Given the description of an element on the screen output the (x, y) to click on. 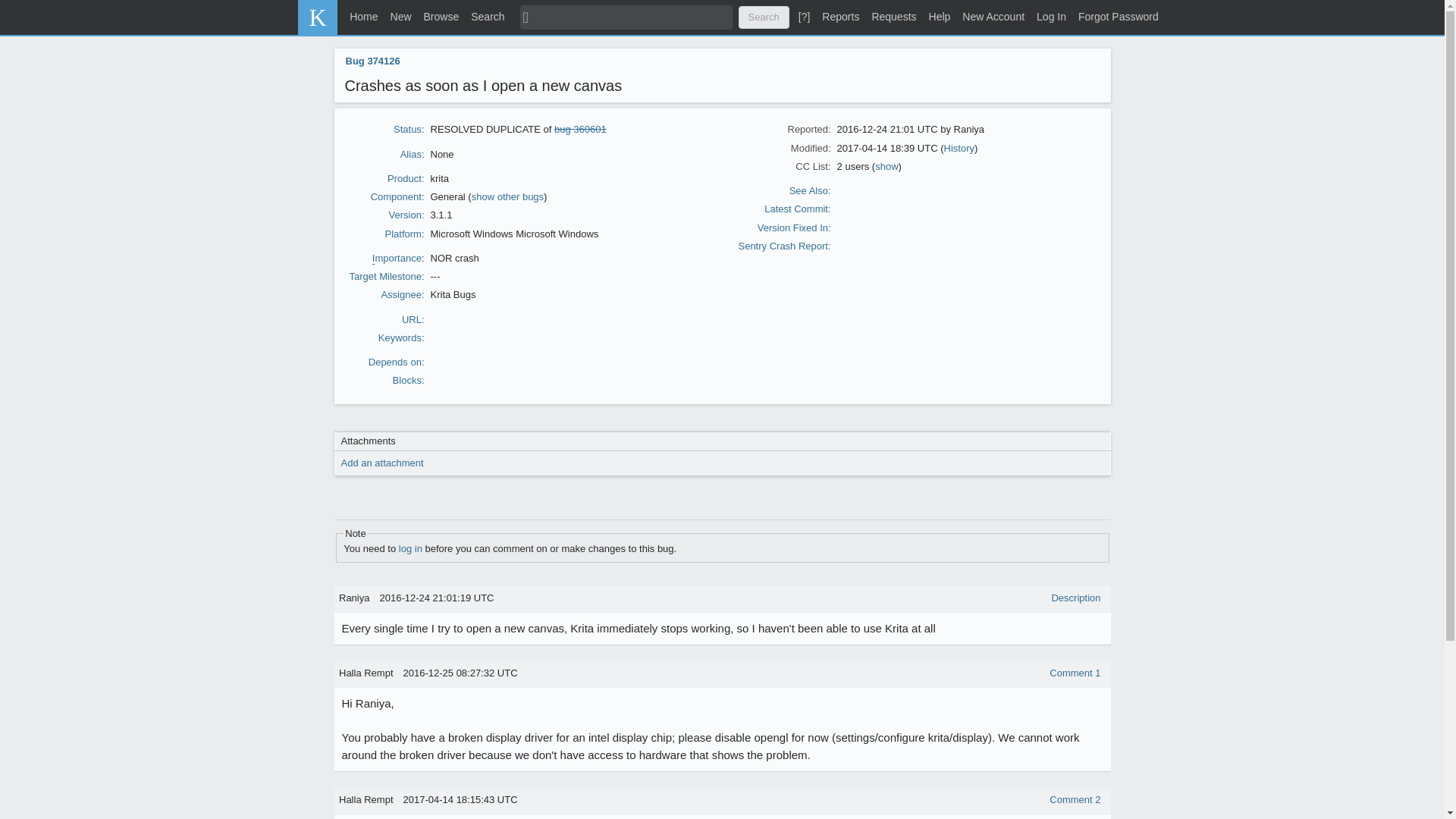
New Account (993, 16)
Latest Commit: (796, 208)
Importance (397, 258)
Quick Search (625, 16)
Search (487, 16)
History (958, 147)
Alias: (412, 153)
New (400, 16)
